Given the description of an element on the screen output the (x, y) to click on. 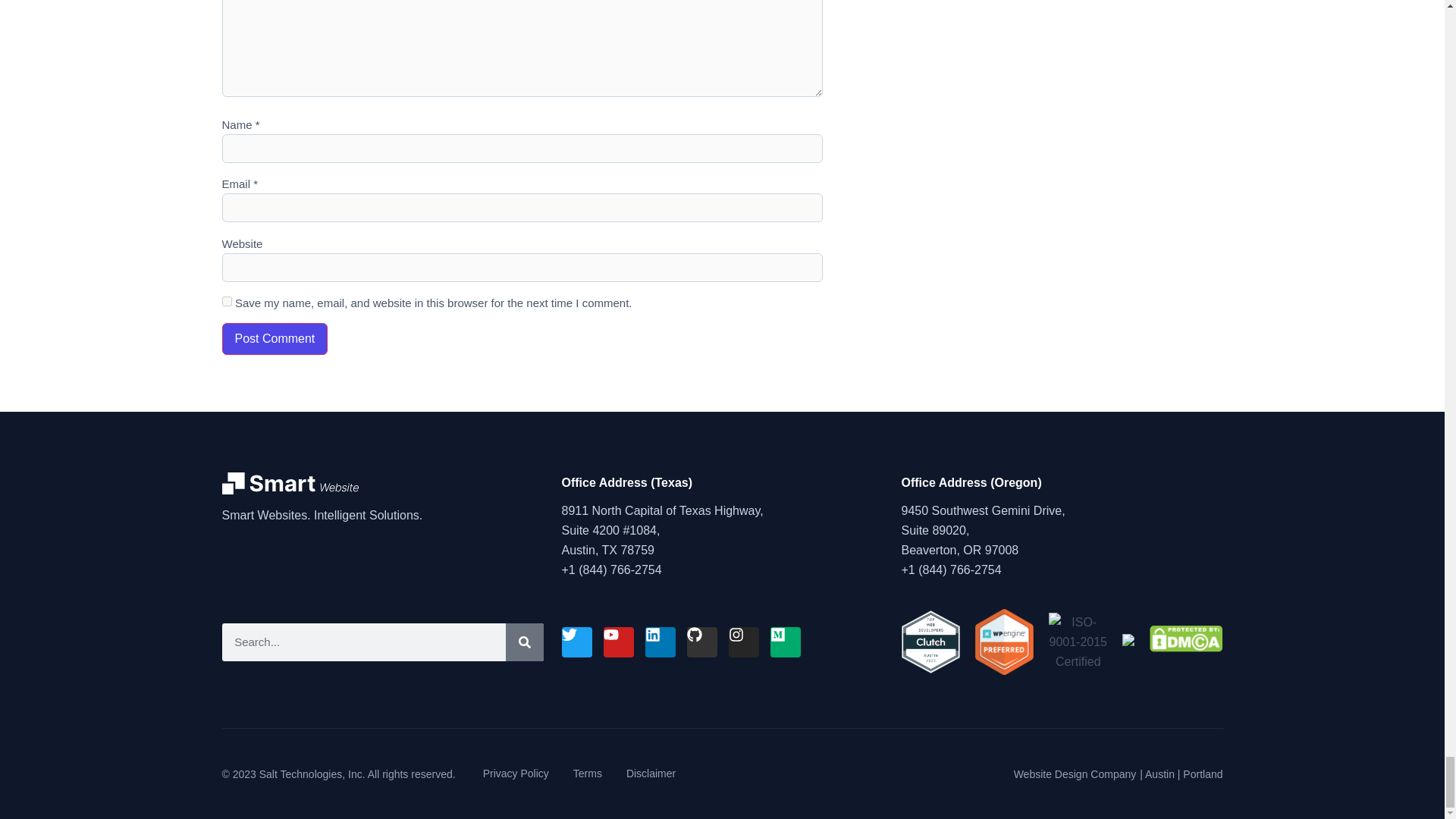
Terms (587, 773)
Privacy Policy (515, 773)
DMCA.com Protection Status (1186, 647)
yes (226, 301)
Post Comment (274, 338)
Post Comment (274, 338)
